Given the description of an element on the screen output the (x, y) to click on. 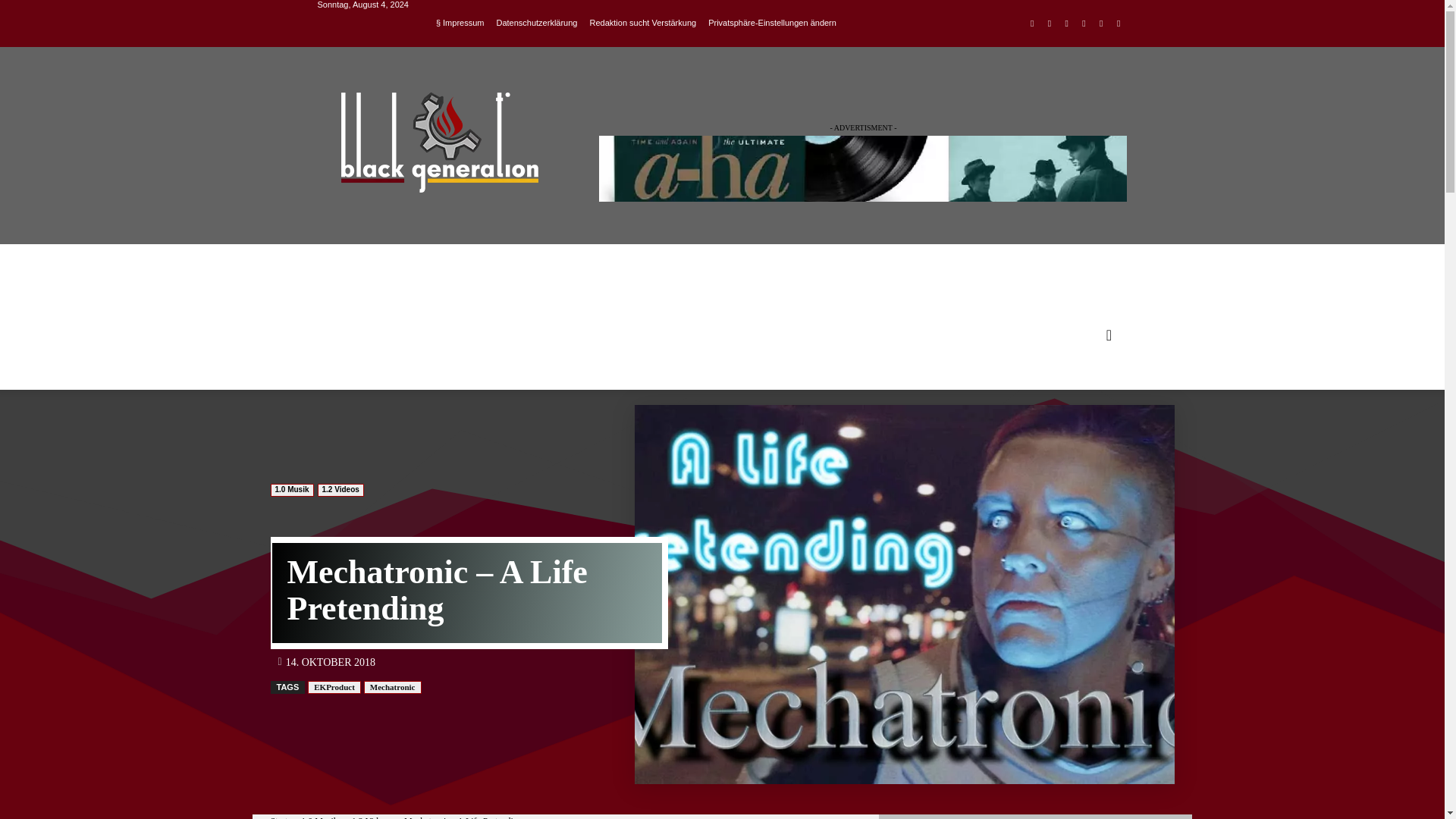
BlueSky (1117, 23)
Spotify (1084, 23)
Instagram (1066, 23)
Facebook (1049, 23)
WhatsApp (1101, 23)
Discord (1032, 23)
